Given the description of an element on the screen output the (x, y) to click on. 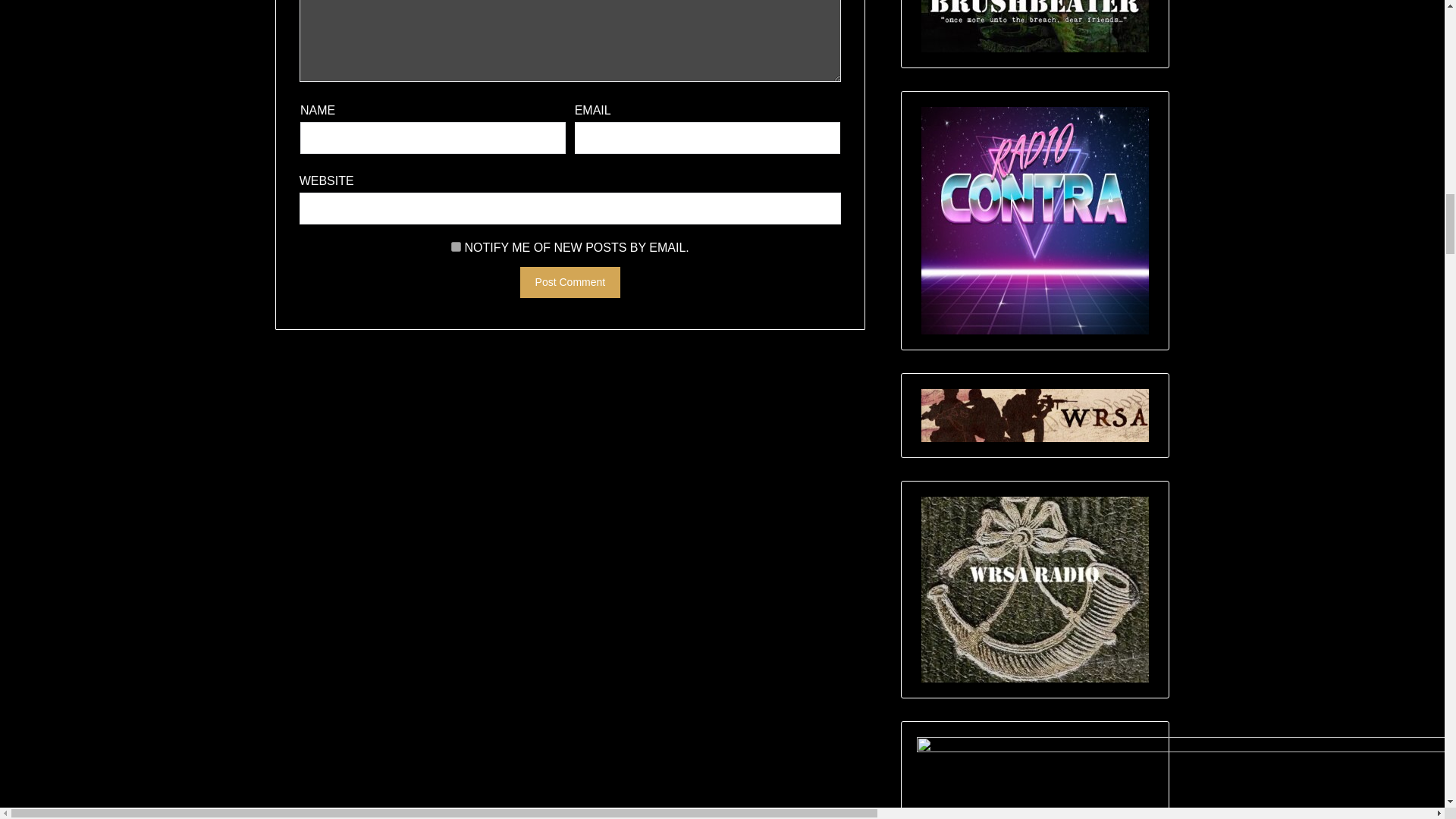
Radio Contra Sons of Liberty Podcast (1034, 220)
Western Rifle Shooters Association (1034, 415)
Post Comment (570, 282)
subscribe (456, 246)
Got Training? Get it Today from the Best in the Business! (1034, 26)
Post Comment (570, 282)
WRSA Radio Podcast- The Voice of Free America! (1034, 589)
